Given the description of an element on the screen output the (x, y) to click on. 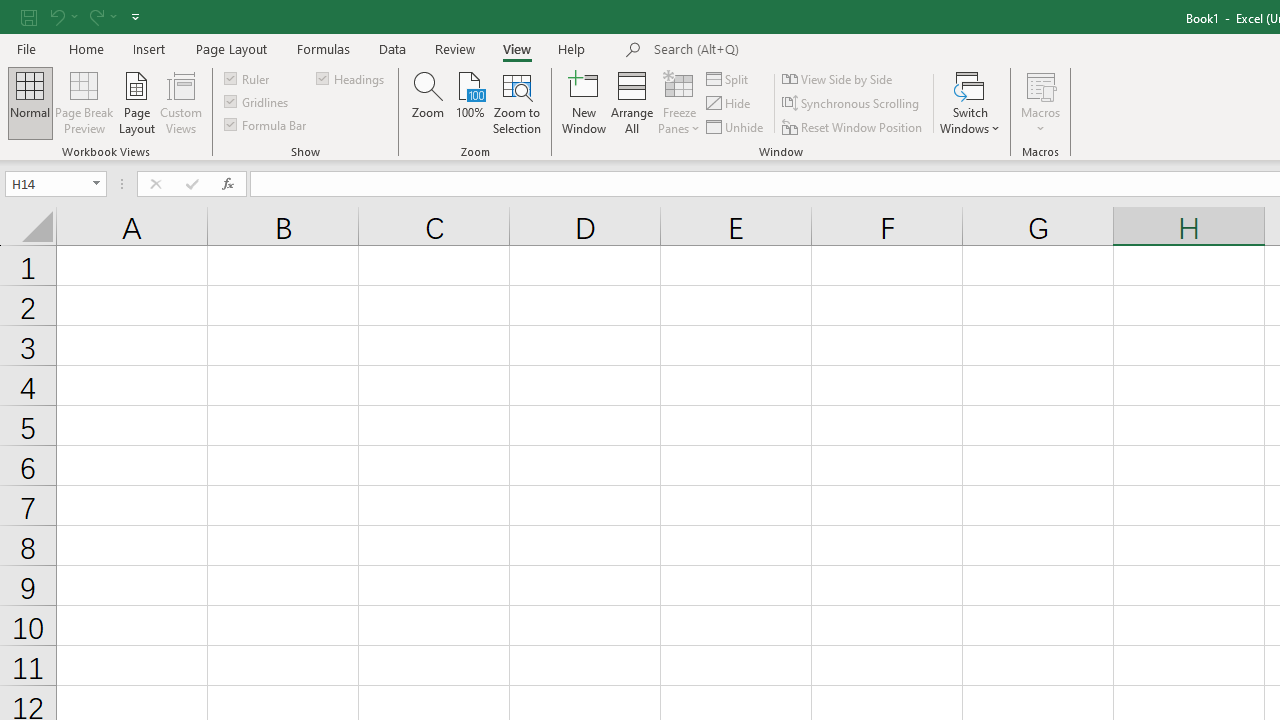
100% (470, 102)
Gridlines (257, 101)
New Window (584, 102)
Macros (1040, 102)
Reset Window Position (854, 126)
Ruler (248, 78)
Headings (351, 78)
